Given the description of an element on the screen output the (x, y) to click on. 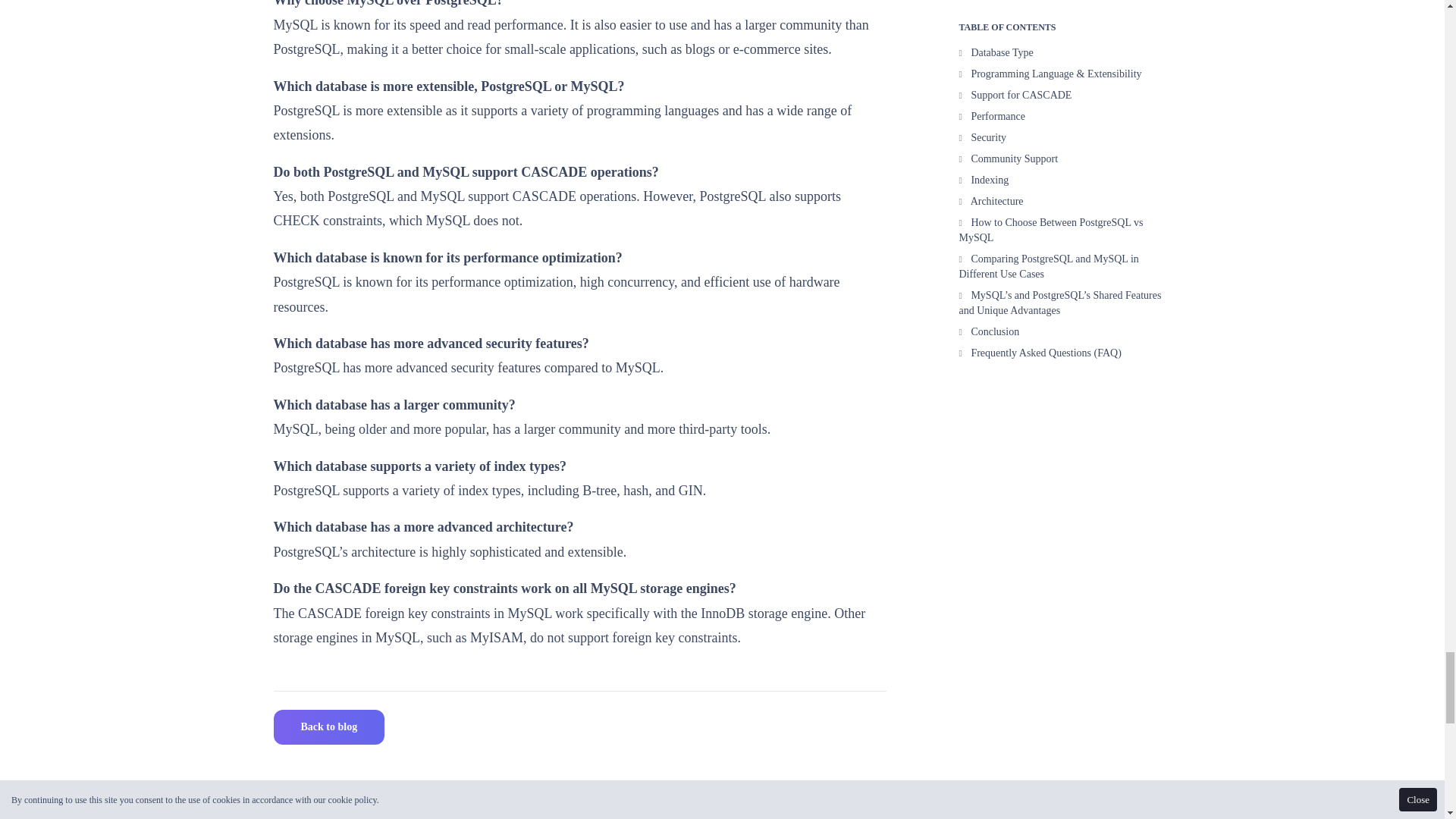
Back to blog (328, 727)
